Given the description of an element on the screen output the (x, y) to click on. 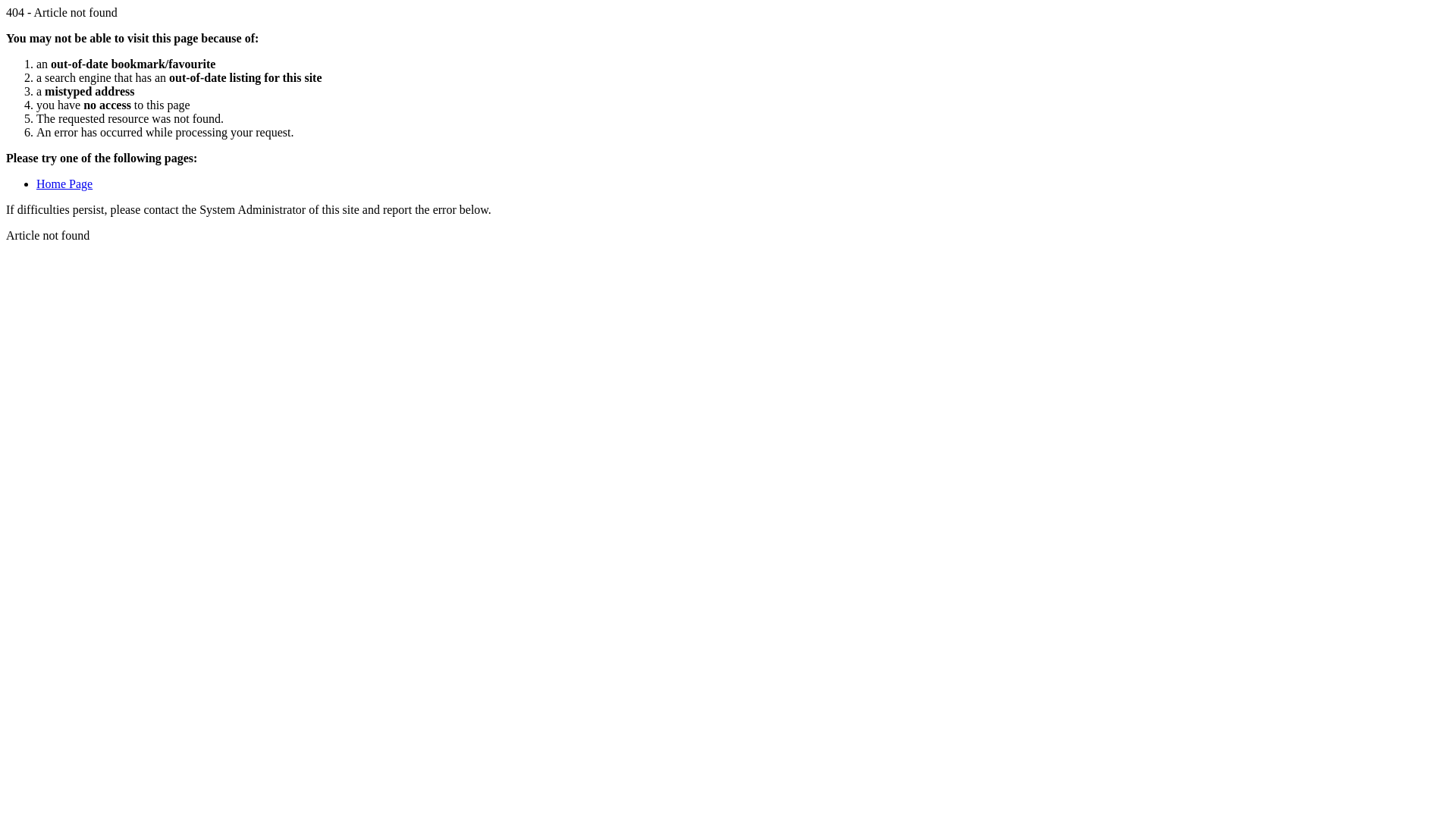
Home Page Element type: text (64, 183)
